Given the description of an element on the screen output the (x, y) to click on. 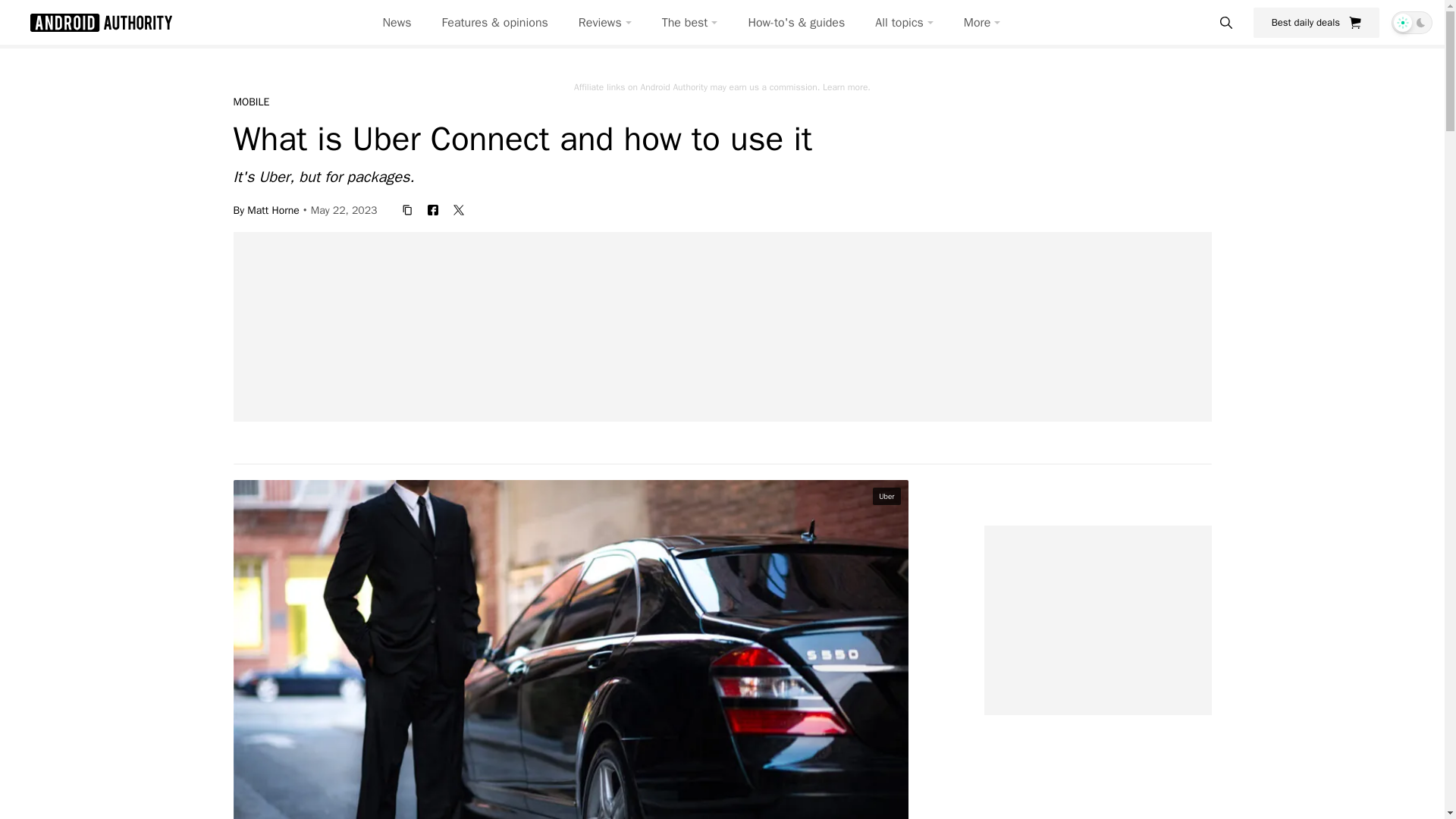
The best (689, 22)
MOBILE (250, 101)
Learn more. (846, 86)
All topics (904, 22)
twitter (458, 209)
facebook (432, 209)
Reviews (604, 22)
Matt Horne (273, 209)
Best daily deals (1315, 22)
